Given the description of an element on the screen output the (x, y) to click on. 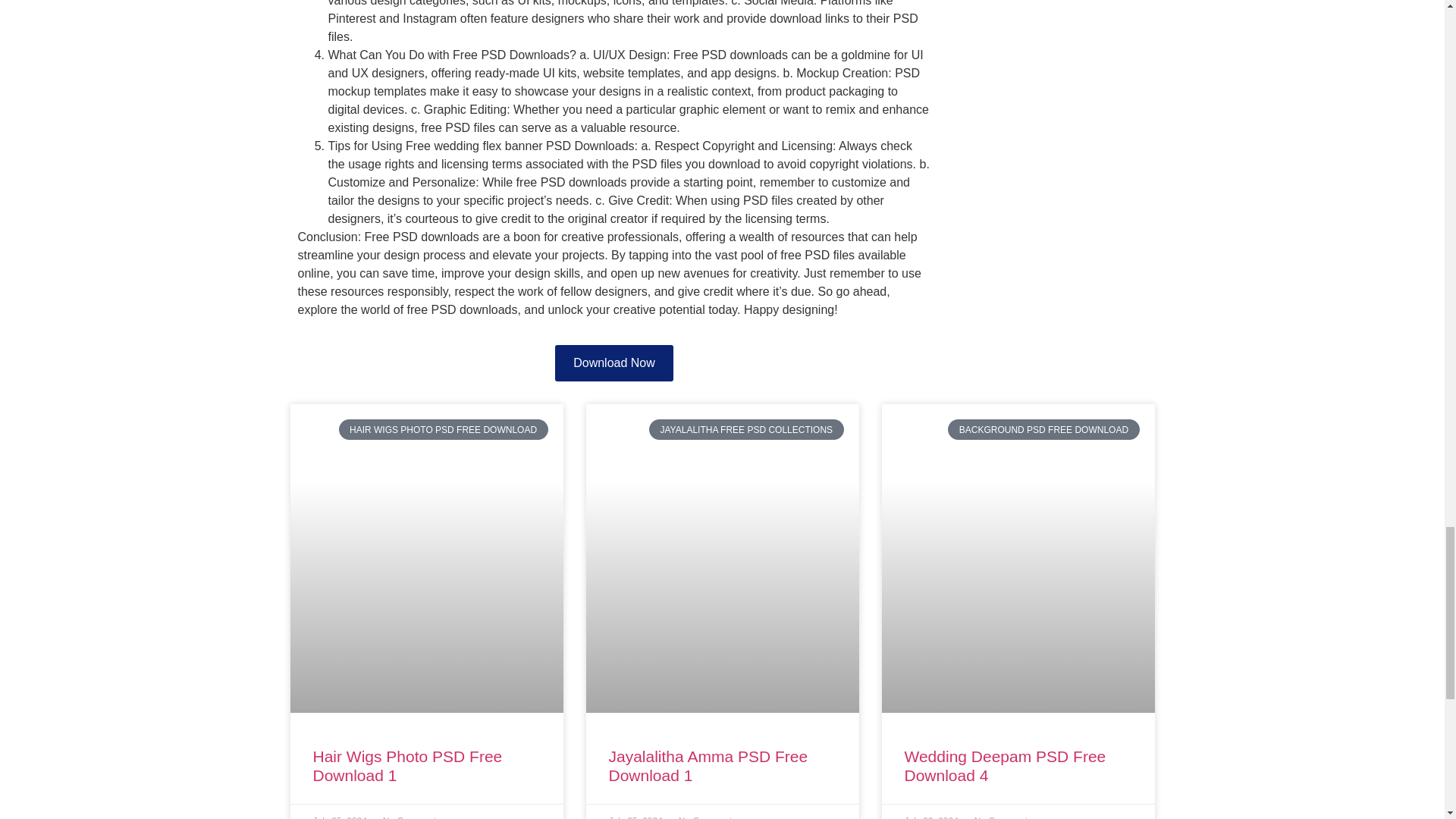
Wedding Deepam PSD Free Download 4 (1004, 765)
Hair Wigs Photo PSD Free Download 1 (407, 765)
Jayalalitha Amma PSD Free Download 1 (708, 765)
Download Now (613, 362)
